Given the description of an element on the screen output the (x, y) to click on. 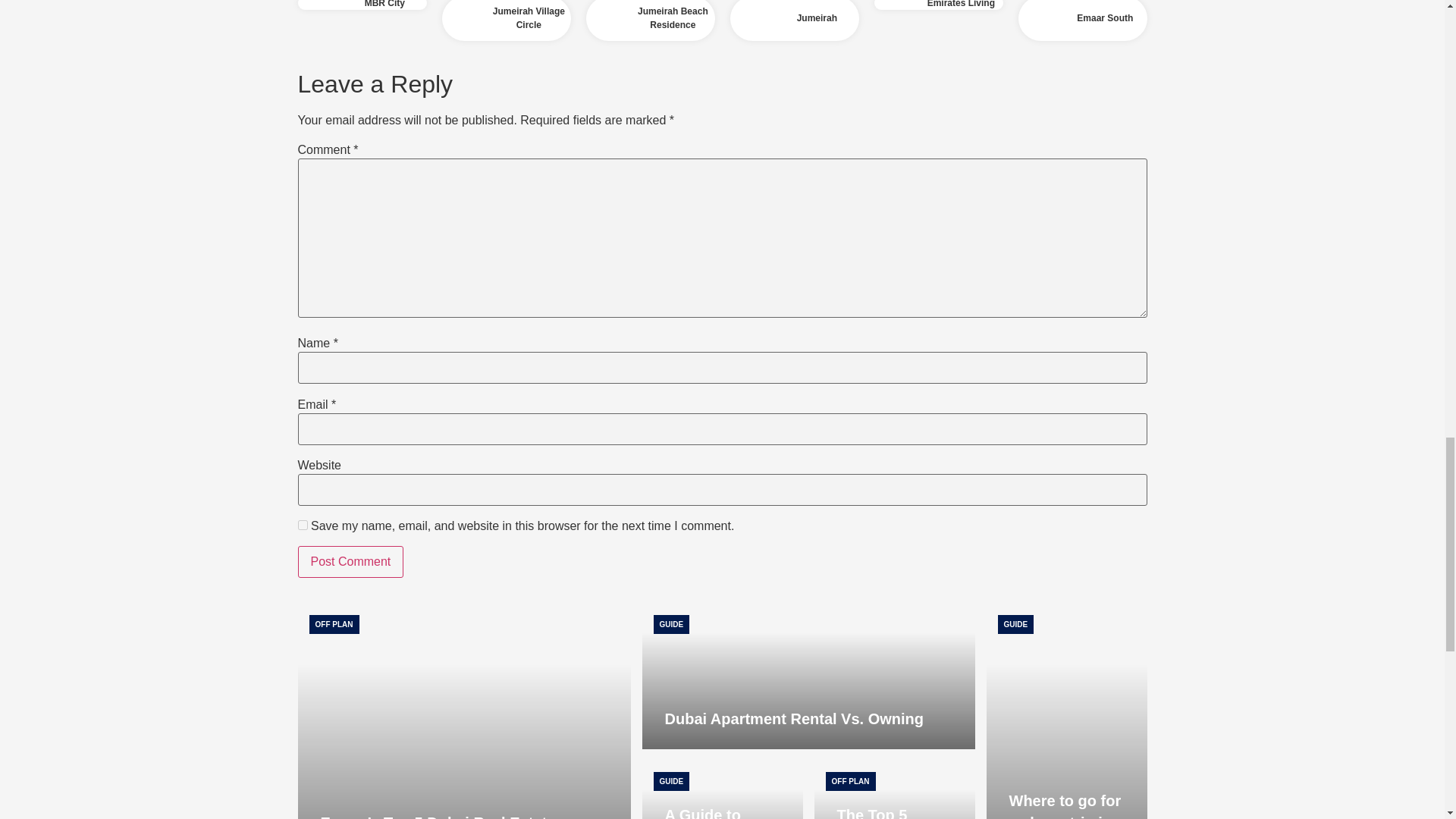
Dubai Apartment Rental Vs. Owning (793, 718)
The Top 5 Townhouse and Villa Communities in Dubai (894, 789)
Post Comment (350, 562)
OFF PLAN (333, 624)
Where to go for a cheap trip in Dubai (1065, 805)
Post Comment (350, 562)
yes (302, 524)
The Top 5 Townhouse and Villa Communities in Dubai (894, 812)
Where to go for a cheap trip in Dubai (1066, 711)
A Guide to Transferring Property in Dubai in 8 Steps (707, 812)
Dubai Apartment Rental Vs. Owning (808, 676)
A Guide to Transferring Property in Dubai in 8 Steps (722, 789)
